Given the description of an element on the screen output the (x, y) to click on. 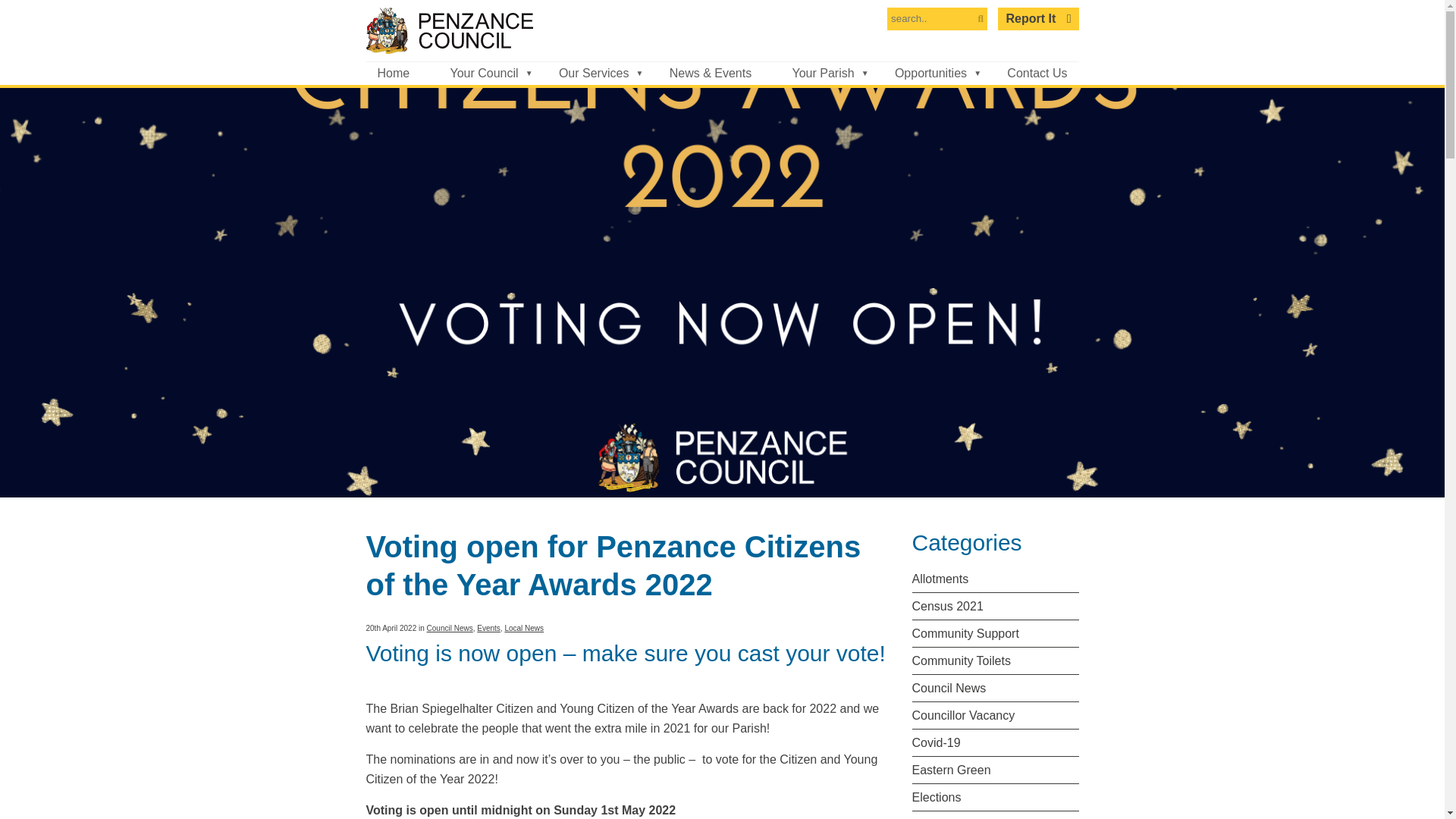
Home (392, 73)
Your Council (483, 73)
Our Services (593, 73)
Report It (1037, 18)
Your Parish (822, 73)
